Given the description of an element on the screen output the (x, y) to click on. 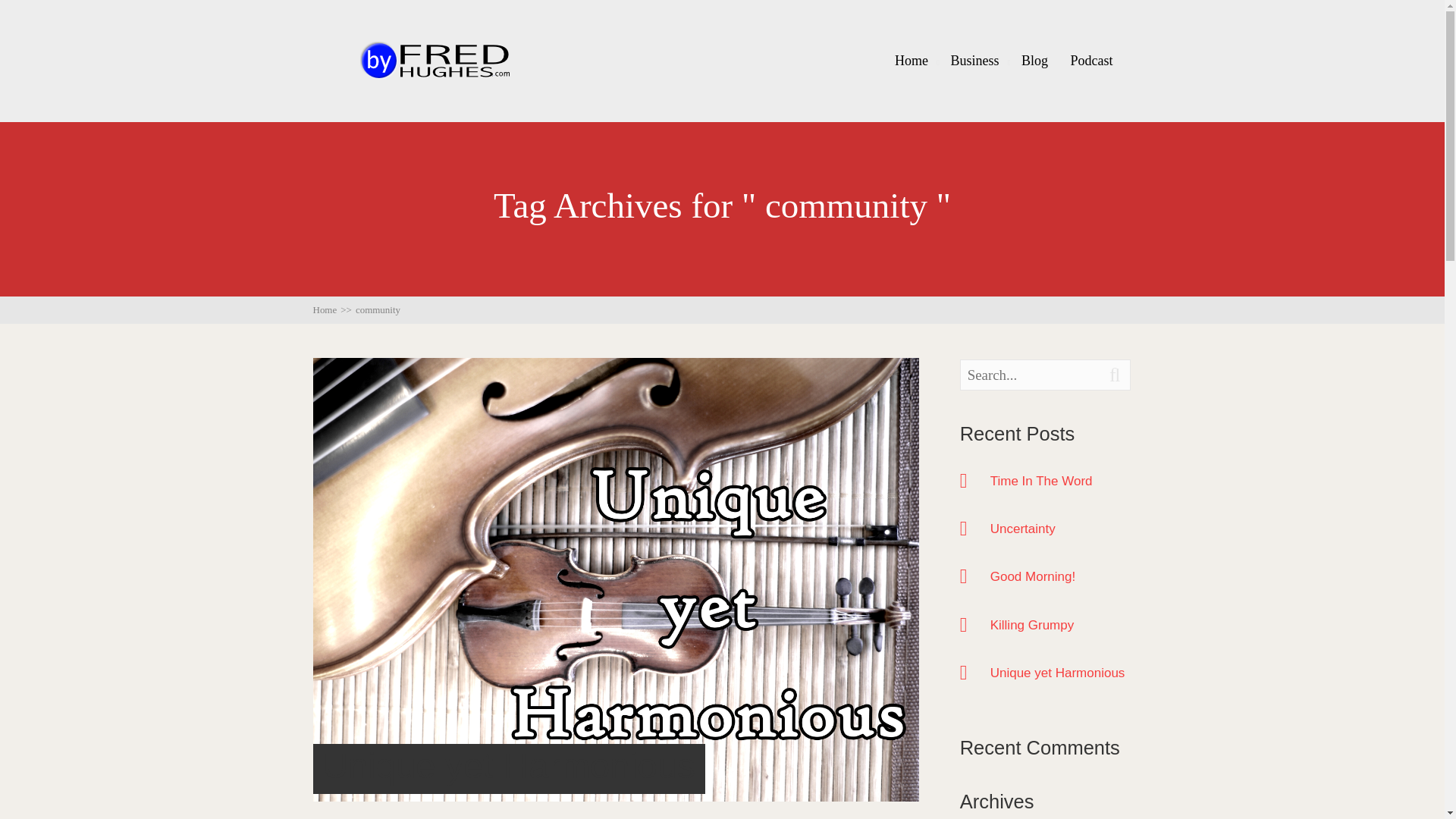
Home (911, 60)
Podcast (1091, 60)
Business (974, 60)
Good Morning! (1061, 576)
Unique yet Harmonious (1061, 672)
Killing Grumpy (1061, 624)
Uncertainty (1061, 528)
Time In The Word (1061, 479)
Blog (1035, 60)
